Given the description of an element on the screen output the (x, y) to click on. 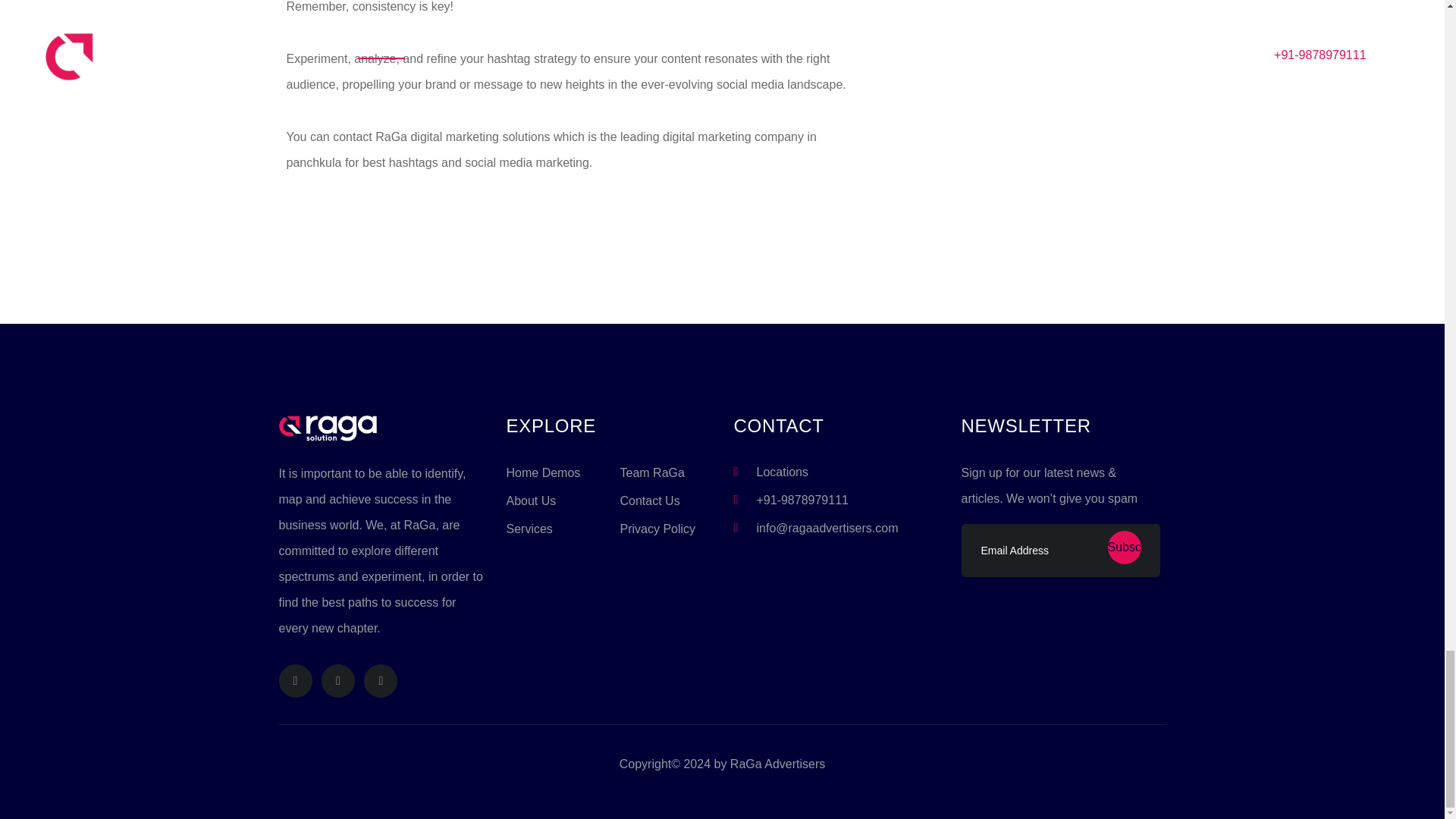
Home Demos (543, 472)
Services (529, 528)
Subscribe (1123, 547)
Team RaGa (652, 472)
Privacy Policy (657, 528)
Locations (783, 472)
Contact Us (649, 500)
About Us (531, 500)
